Given the description of an element on the screen output the (x, y) to click on. 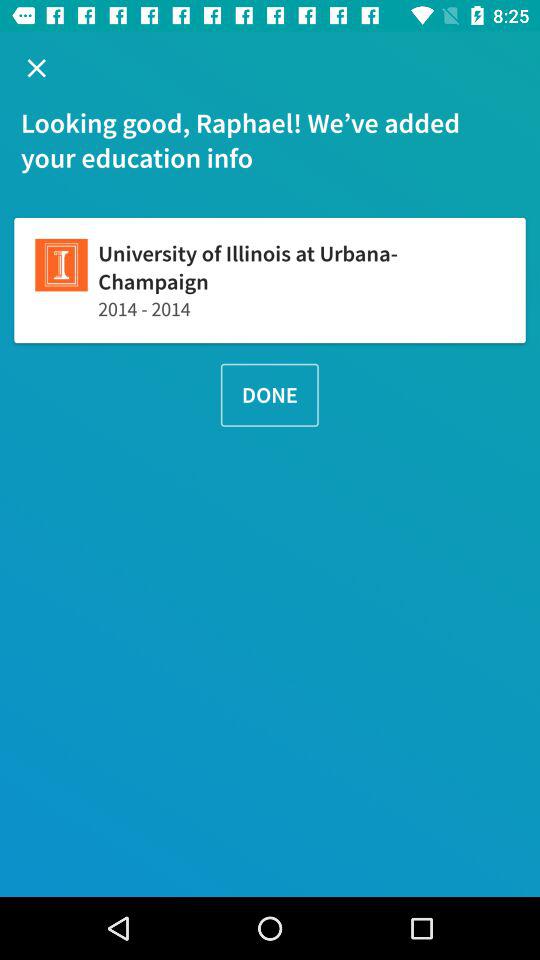
open item below 2014 - 2014 icon (269, 394)
